Given the description of an element on the screen output the (x, y) to click on. 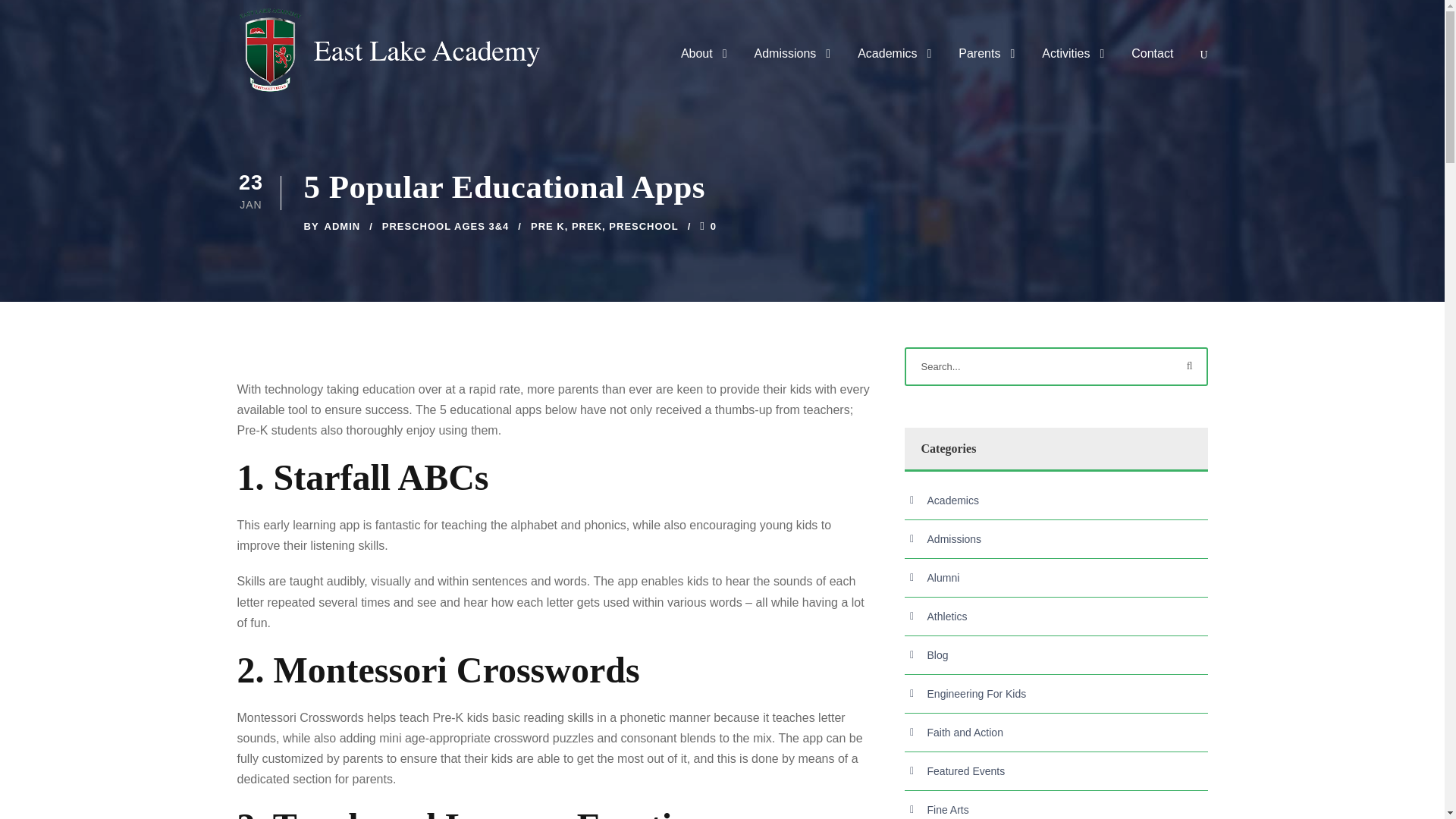
Posts by admin (342, 225)
